Given the description of an element on the screen output the (x, y) to click on. 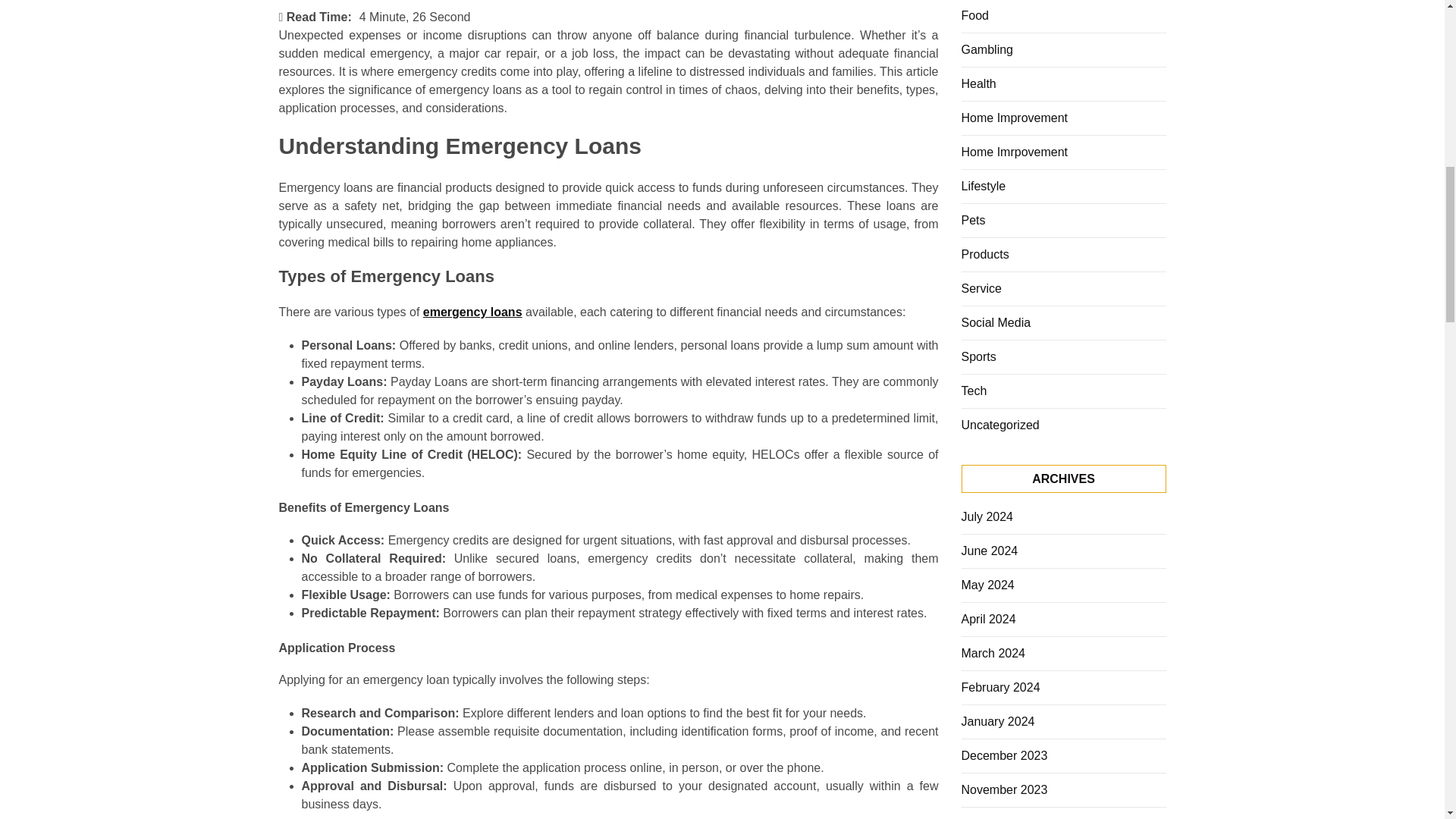
emergency loans (472, 311)
